Given the description of an element on the screen output the (x, y) to click on. 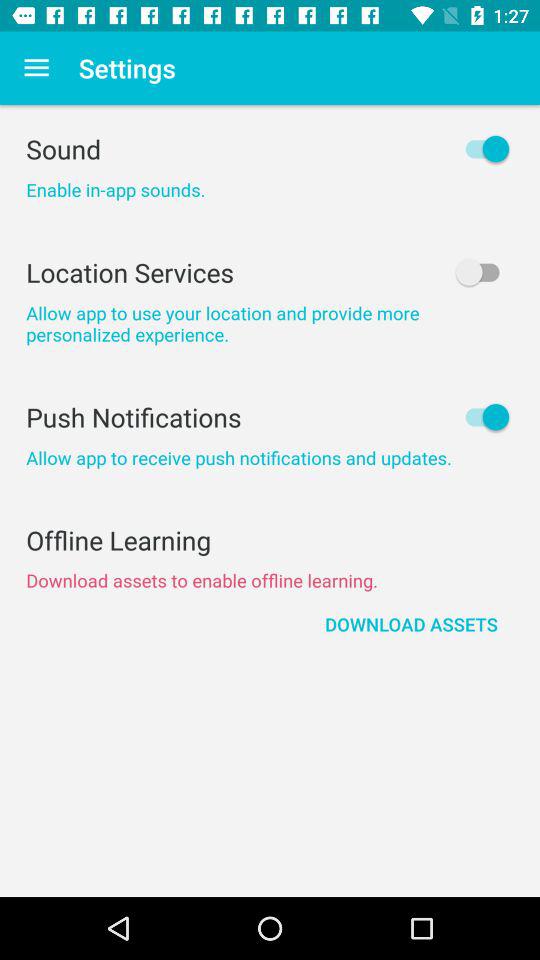
select location services icon (269, 272)
